Given the description of an element on the screen output the (x, y) to click on. 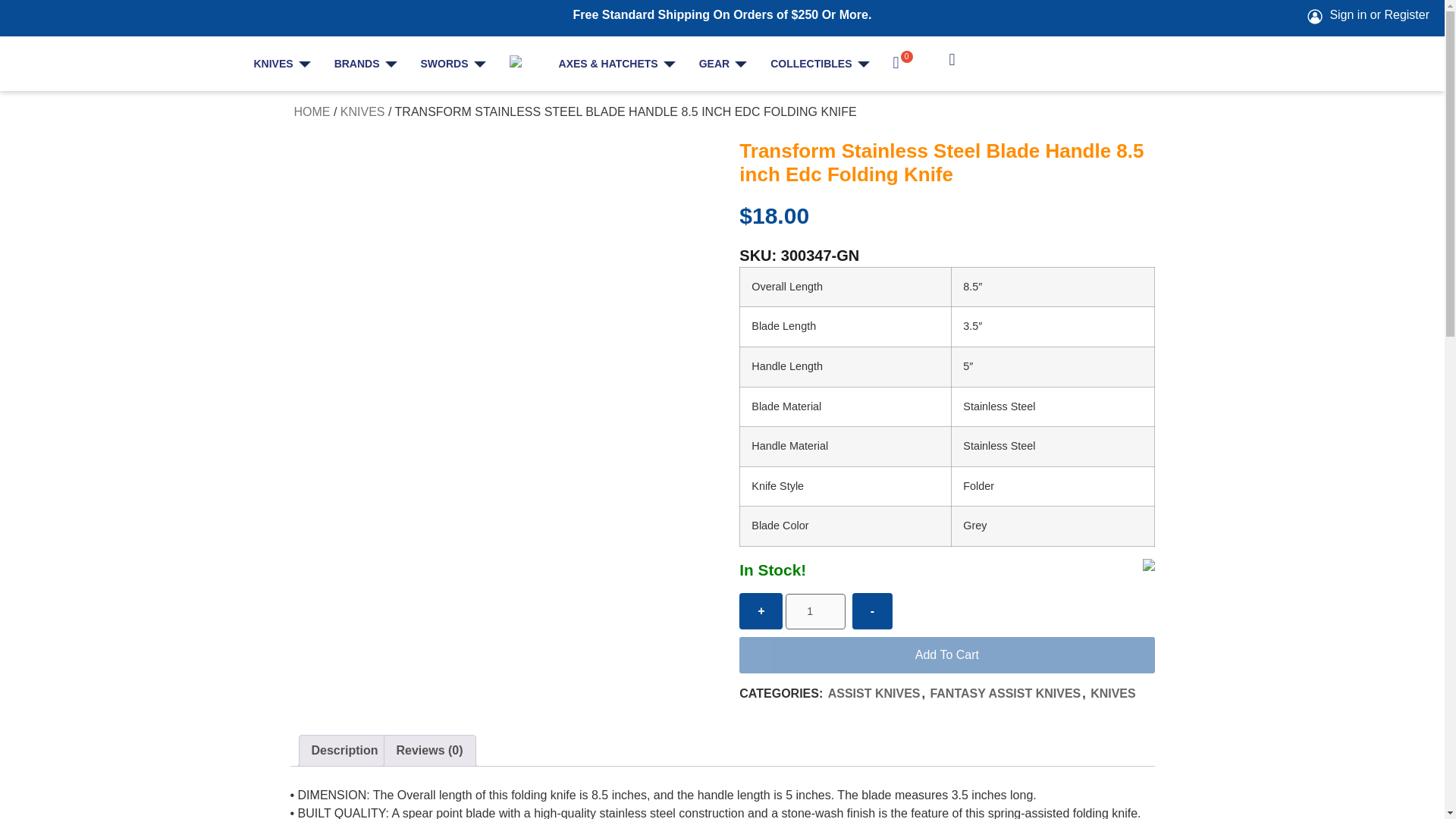
1 (815, 611)
